Given the description of an element on the screen output the (x, y) to click on. 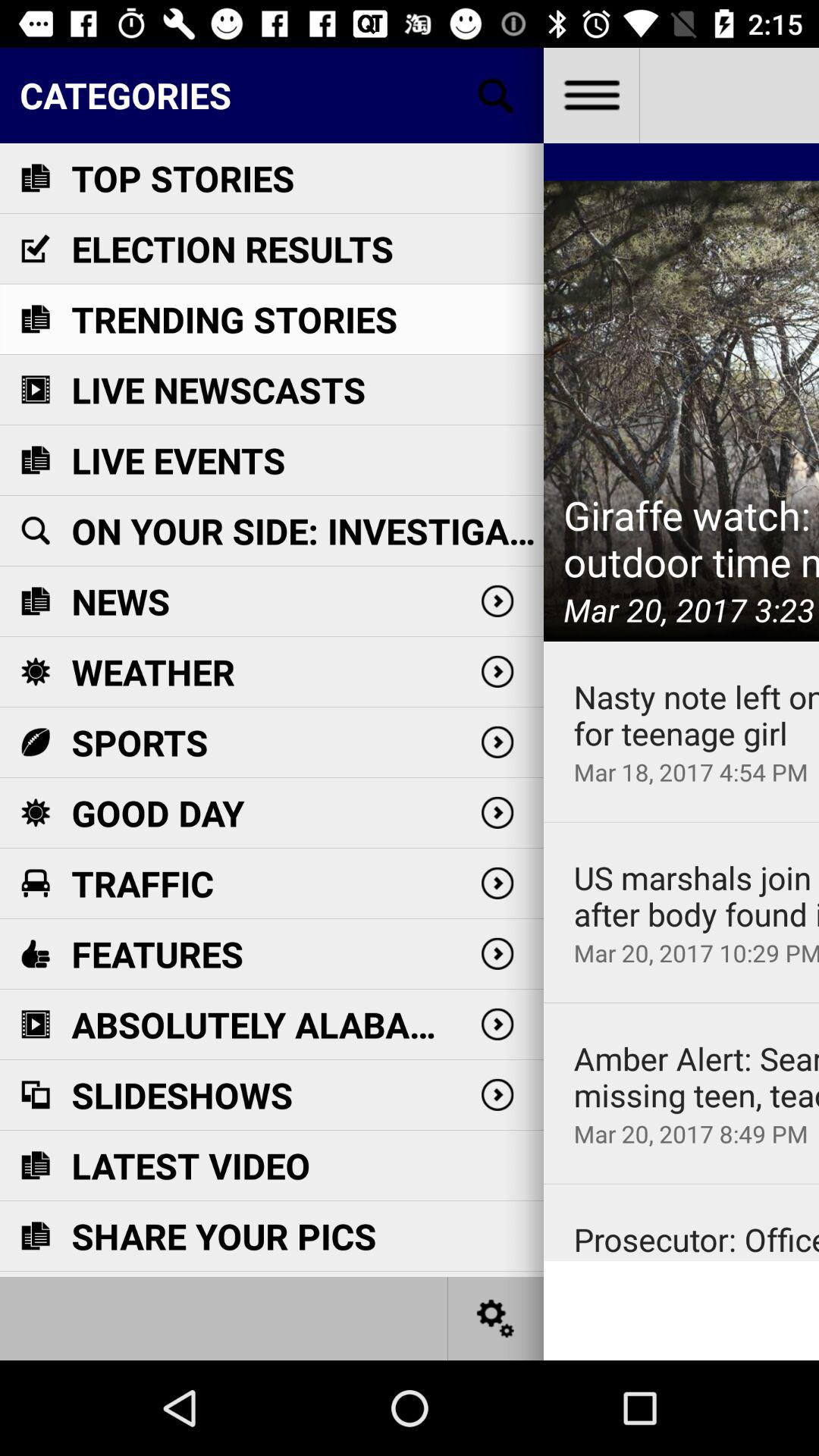
open more options (591, 95)
